Given the description of an element on the screen output the (x, y) to click on. 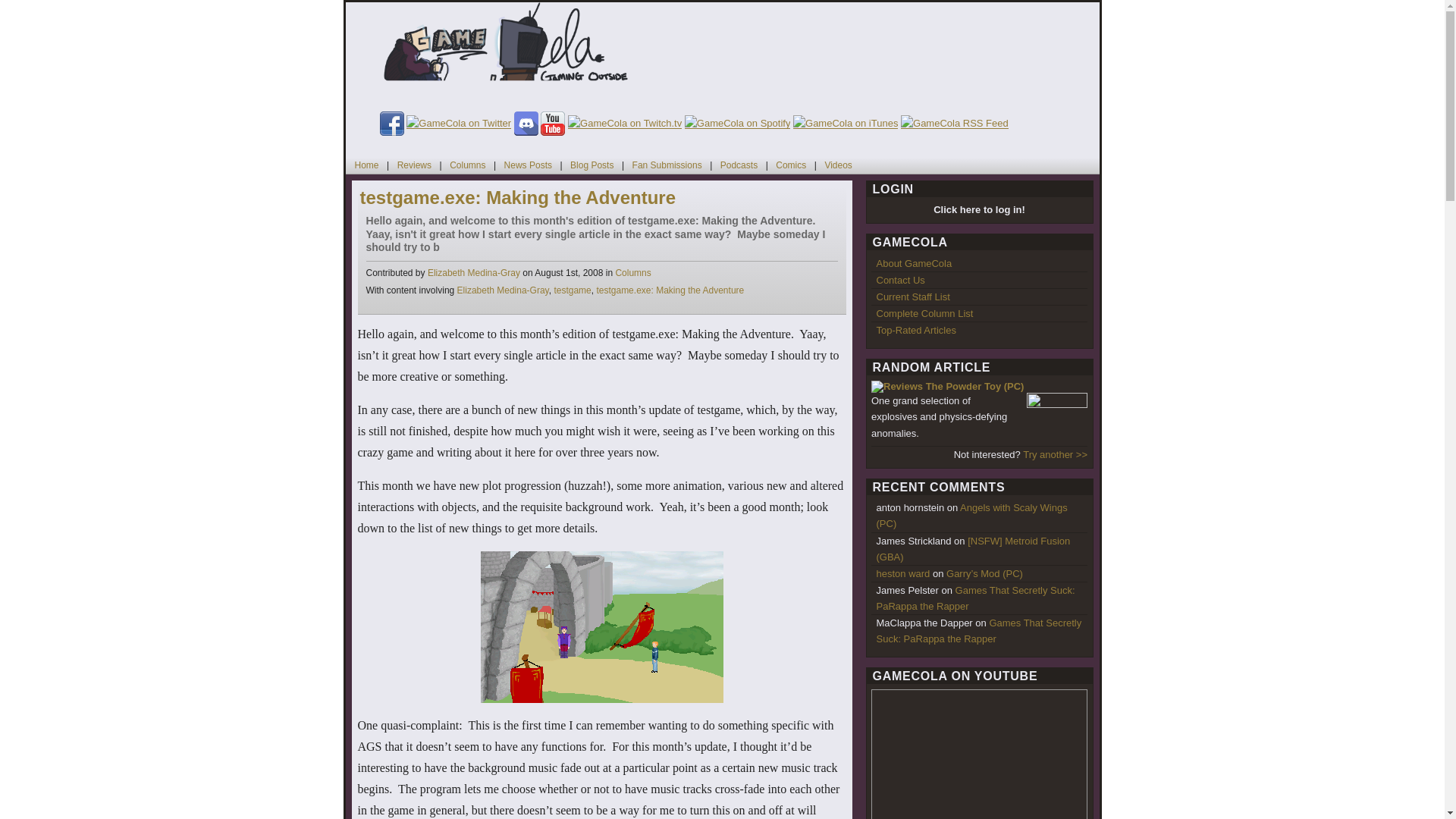
About GameCola (914, 263)
Podcasts (738, 164)
GameCola on Spotify (737, 123)
Elizabeth Medina-Gray (473, 272)
testgame.exe: Making the Adventure (517, 197)
GameCola on Discord (525, 123)
Columns (632, 272)
Elizabeth Medina-Gray (502, 290)
GameCola on YouTube (552, 123)
News Posts (527, 164)
Videos (508, 50)
GameCola on iTunes (838, 164)
Home (845, 123)
GameCola RSS Feed (366, 164)
